Given the description of an element on the screen output the (x, y) to click on. 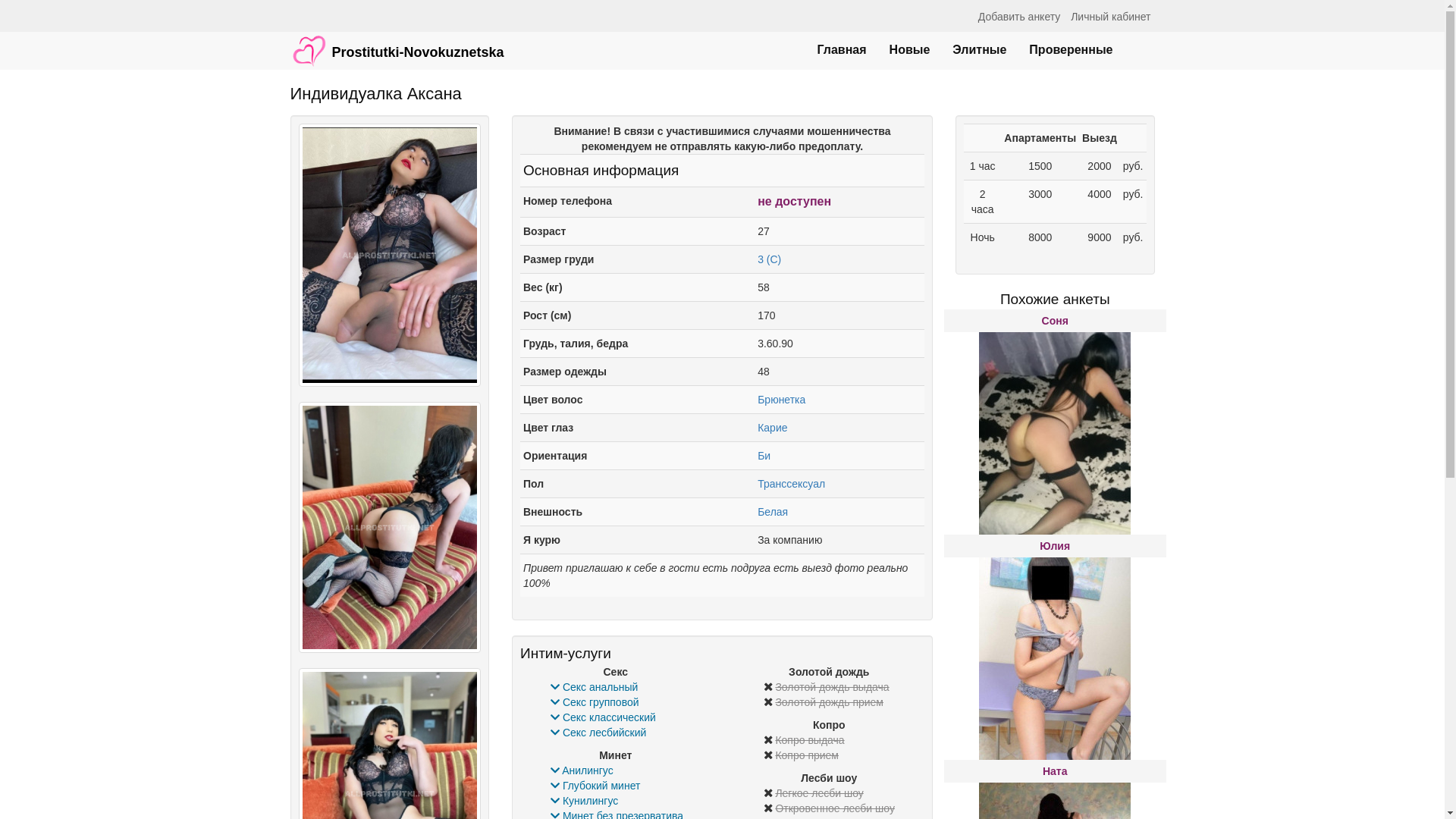
3 (C) Element type: text (769, 259)
Prostitutki-Novokuznetska Element type: text (397, 43)
